Given the description of an element on the screen output the (x, y) to click on. 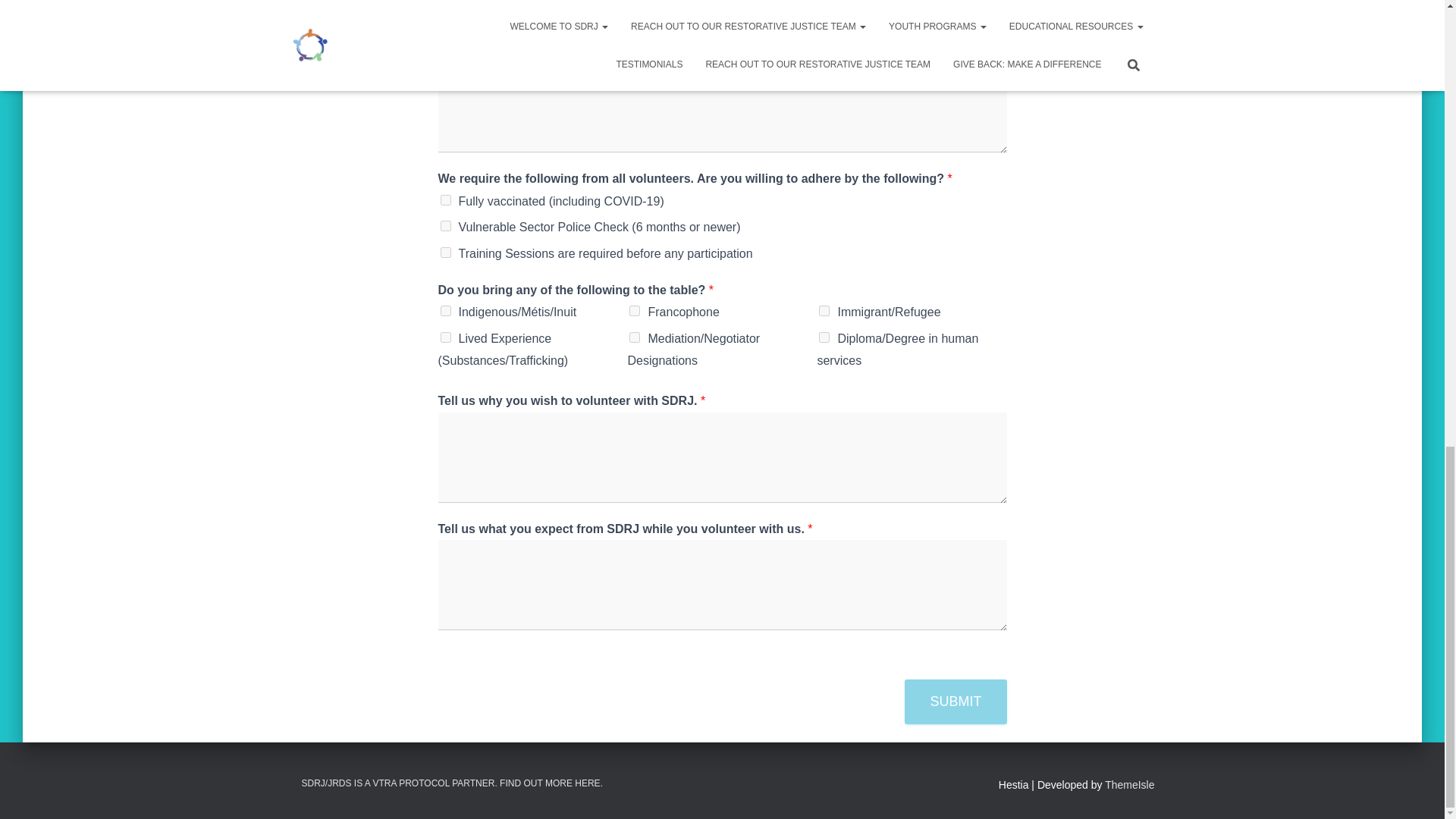
Training Sessions are required before any participation (444, 251)
Francophone (634, 310)
SUBMIT (955, 701)
ThemeIsle (1129, 784)
